Given the description of an element on the screen output the (x, y) to click on. 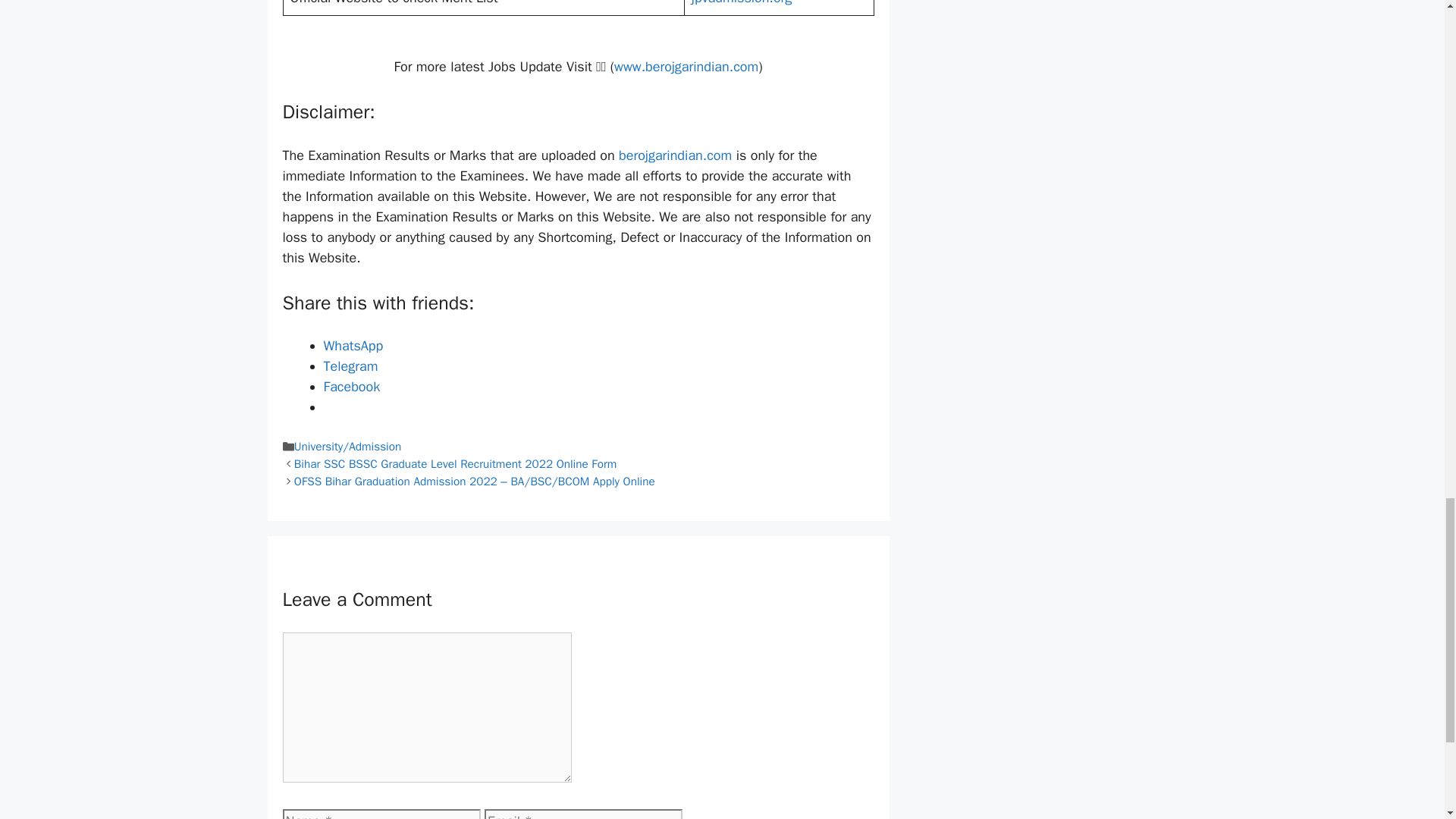
www.berojgarindian.com (686, 66)
berojgarindian.com (675, 155)
Click to share on Facebook (351, 386)
Click to share on Telegram (350, 365)
Facebook (351, 386)
Click to share on WhatsApp (352, 345)
Bihar SSC BSSC Graduate Level Recruitment 2022 Online Form (455, 463)
jpvadmission.org (741, 2)
WhatsApp (352, 345)
Telegram (350, 365)
